Given the description of an element on the screen output the (x, y) to click on. 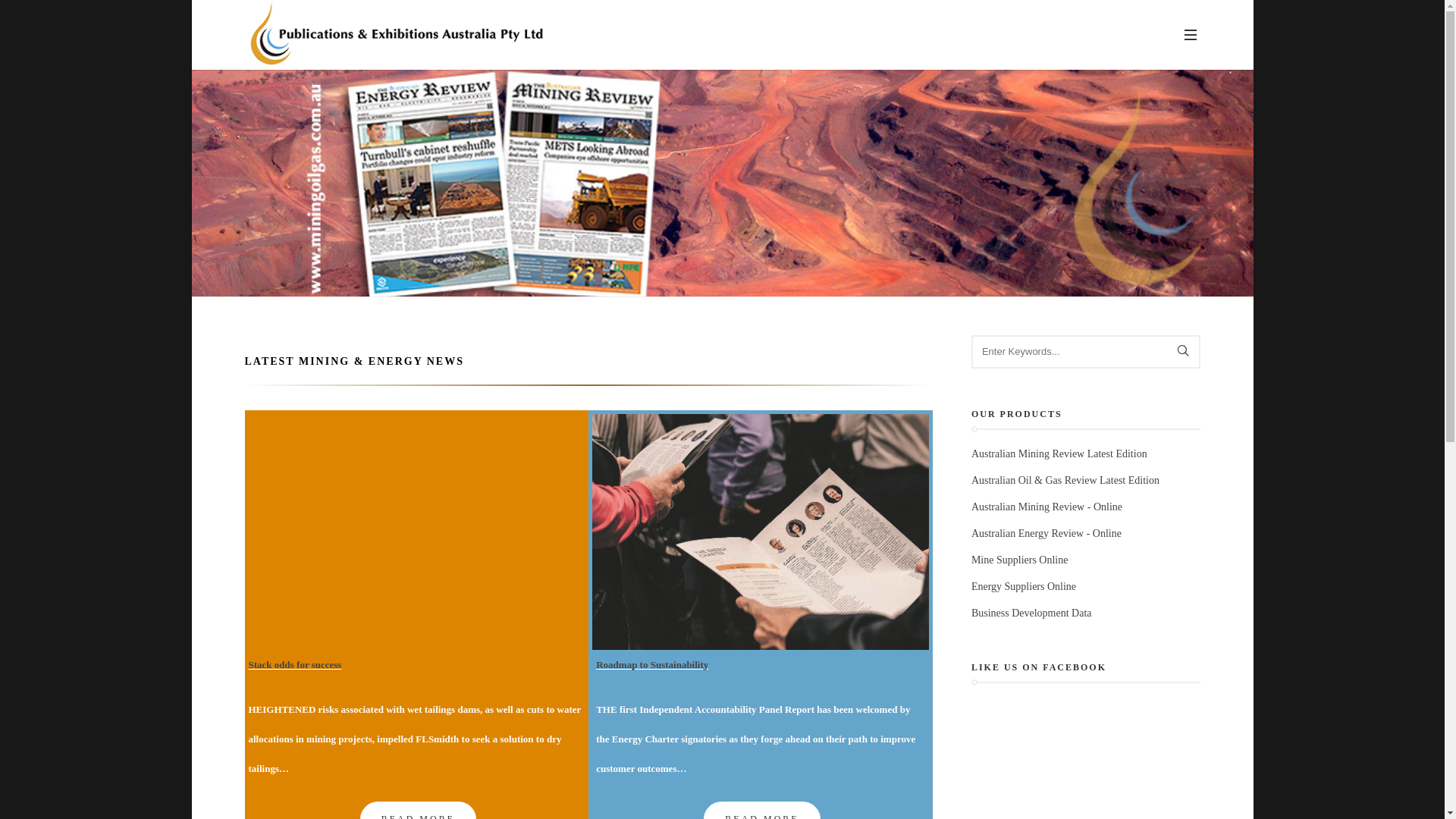
Australian Mining Review Latest Edition Element type: text (1059, 453)
Australian Mining Review - Online Element type: text (1046, 506)
Energy Suppliers Online Element type: text (1023, 586)
Australian Oil & Gas Review Latest Edition Element type: text (1065, 480)
Stack odds for success Element type: text (295, 664)
Roadmap to Sustainability Element type: text (652, 664)
Mine Suppliers Online Element type: text (1019, 559)
Australian Energy Review - Online Element type: text (1046, 533)
Business Development Data Element type: text (1031, 612)
Publications & Exhibitions Australia Element type: hover (395, 34)
